Given the description of an element on the screen output the (x, y) to click on. 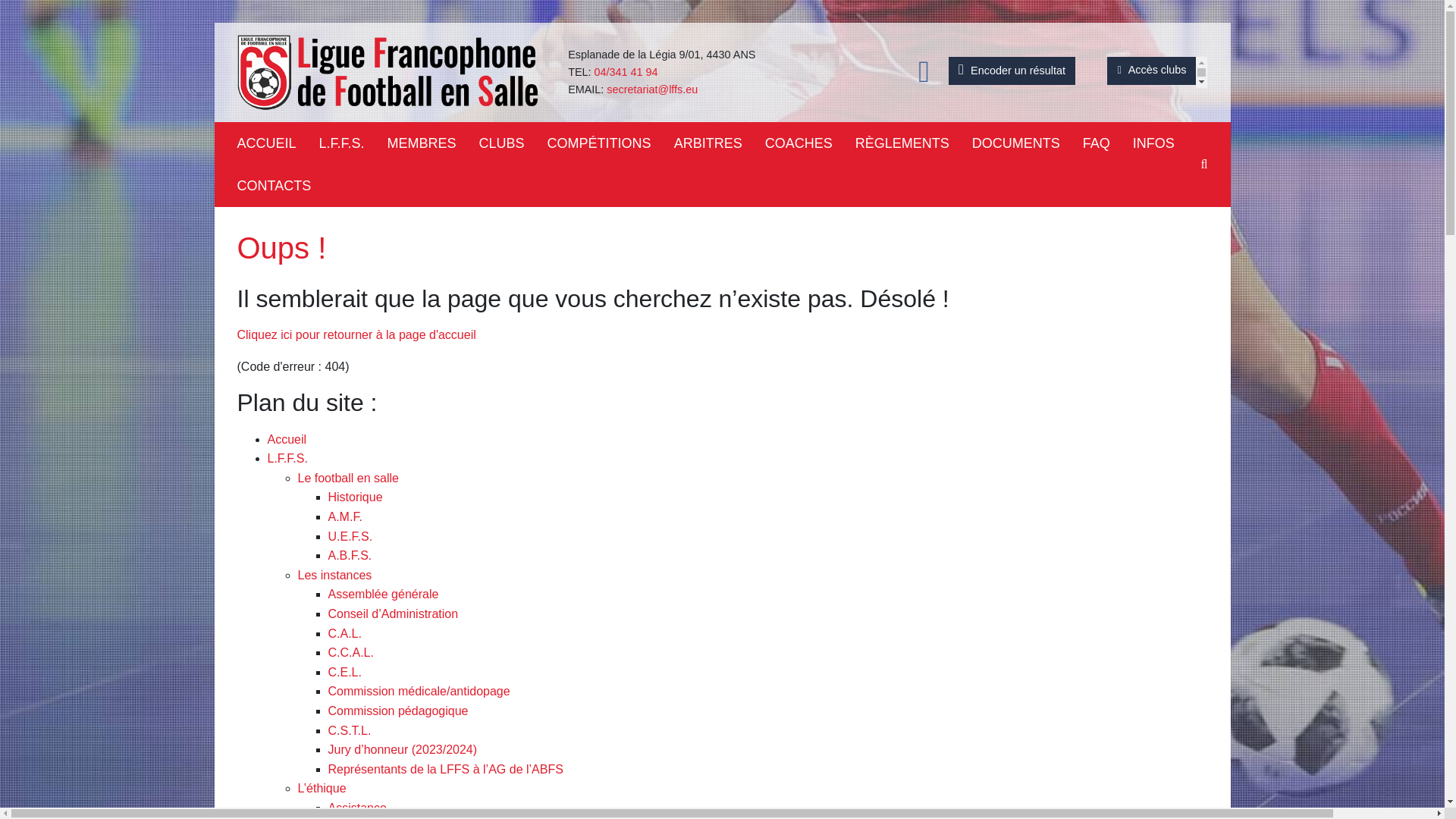
L.F.F.S. (352, 143)
CLUBS (513, 143)
MEMBRES (433, 143)
Logo (389, 72)
ACCUEIL (276, 143)
